Given the description of an element on the screen output the (x, y) to click on. 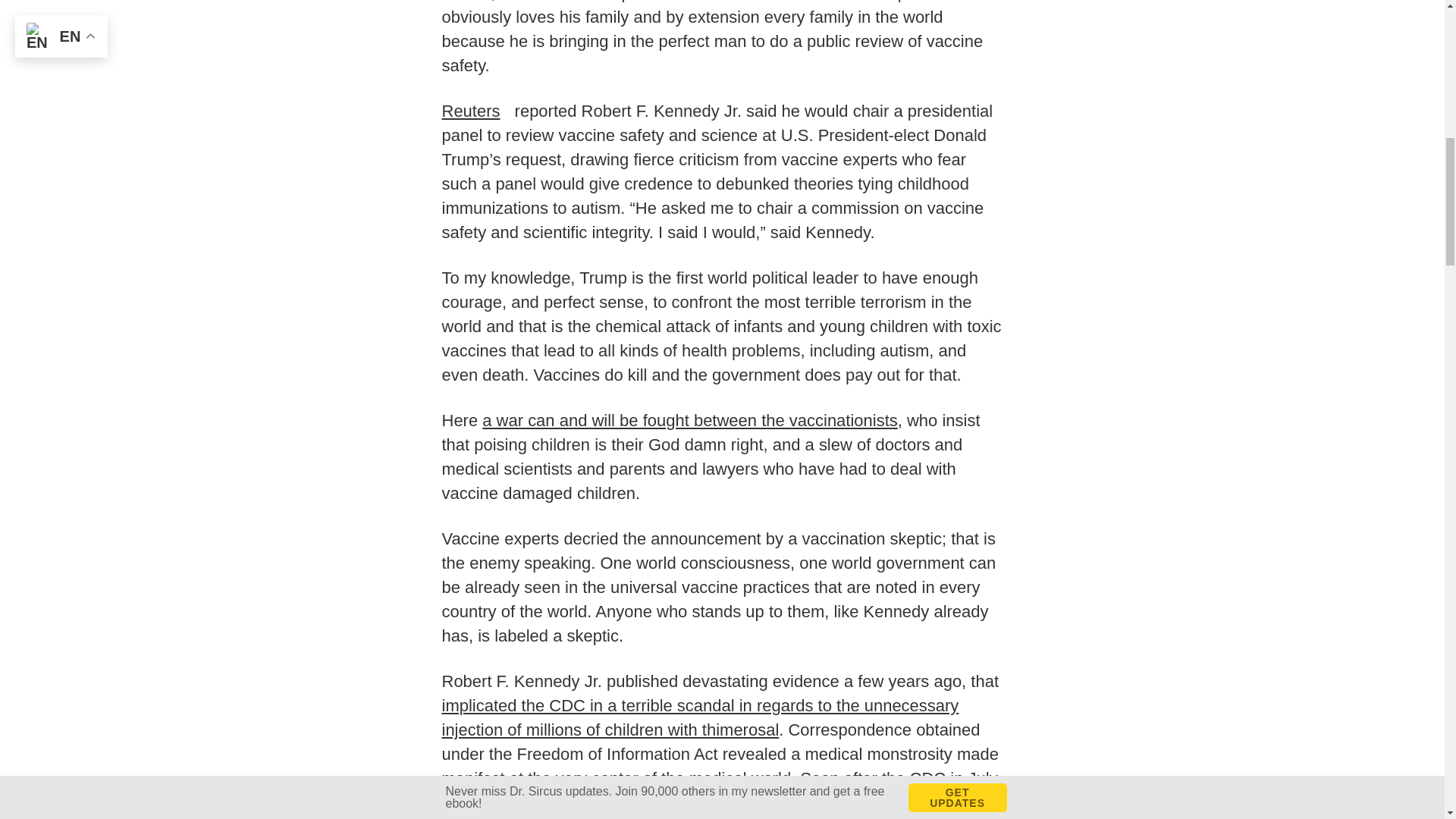
a war can and will be fought between the vaccinationists (689, 420)
Reuters (475, 110)
Thimerosal as a preservative (715, 806)
